Given the description of an element on the screen output the (x, y) to click on. 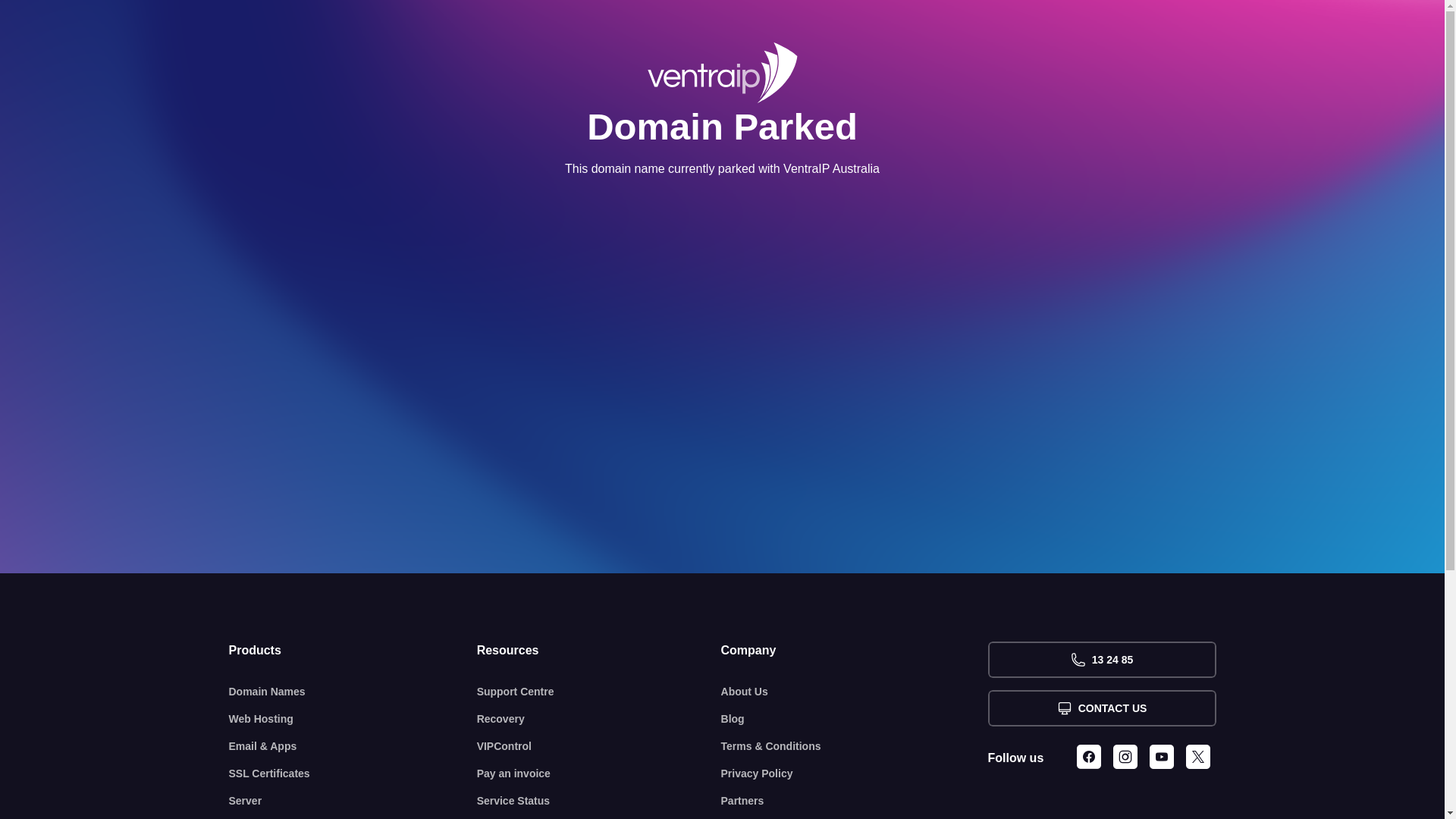
VIPControl Element type: text (598, 745)
Blog Element type: text (854, 718)
SSL Certificates Element type: text (352, 773)
Partners Element type: text (854, 800)
Recovery Element type: text (598, 718)
CONTACT US Element type: text (1101, 708)
Domain Names Element type: text (352, 691)
Email & Apps Element type: text (352, 745)
Pay an invoice Element type: text (598, 773)
Server Element type: text (352, 800)
Privacy Policy Element type: text (854, 773)
Service Status Element type: text (598, 800)
Web Hosting Element type: text (352, 718)
Support Centre Element type: text (598, 691)
About Us Element type: text (854, 691)
Terms & Conditions Element type: text (854, 745)
13 24 85 Element type: text (1101, 659)
